Given the description of an element on the screen output the (x, y) to click on. 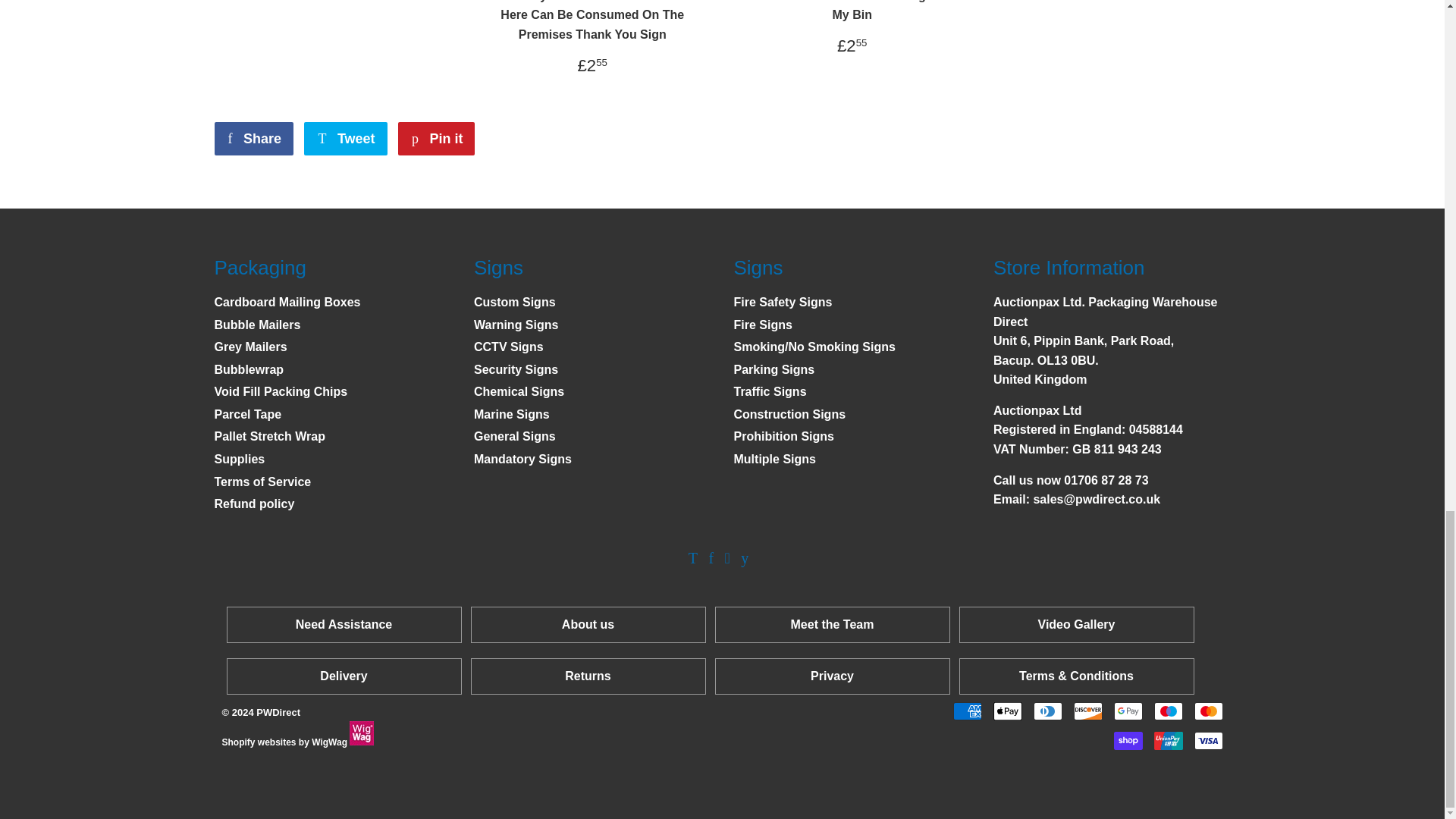
About us (588, 624)
Shopify websites by WigWag (361, 733)
Pin on Pinterest (435, 138)
Union Pay (1168, 741)
Shop Pay (1127, 741)
Need Assistance (343, 624)
Video Gallery (1075, 624)
Visa (1208, 741)
Returns (587, 675)
Apple Pay (1007, 710)
Shopify websites by WigWag (361, 742)
Diners Club (1046, 710)
Share on Facebook (253, 138)
American Express (966, 710)
Discover (1088, 710)
